Given the description of an element on the screen output the (x, y) to click on. 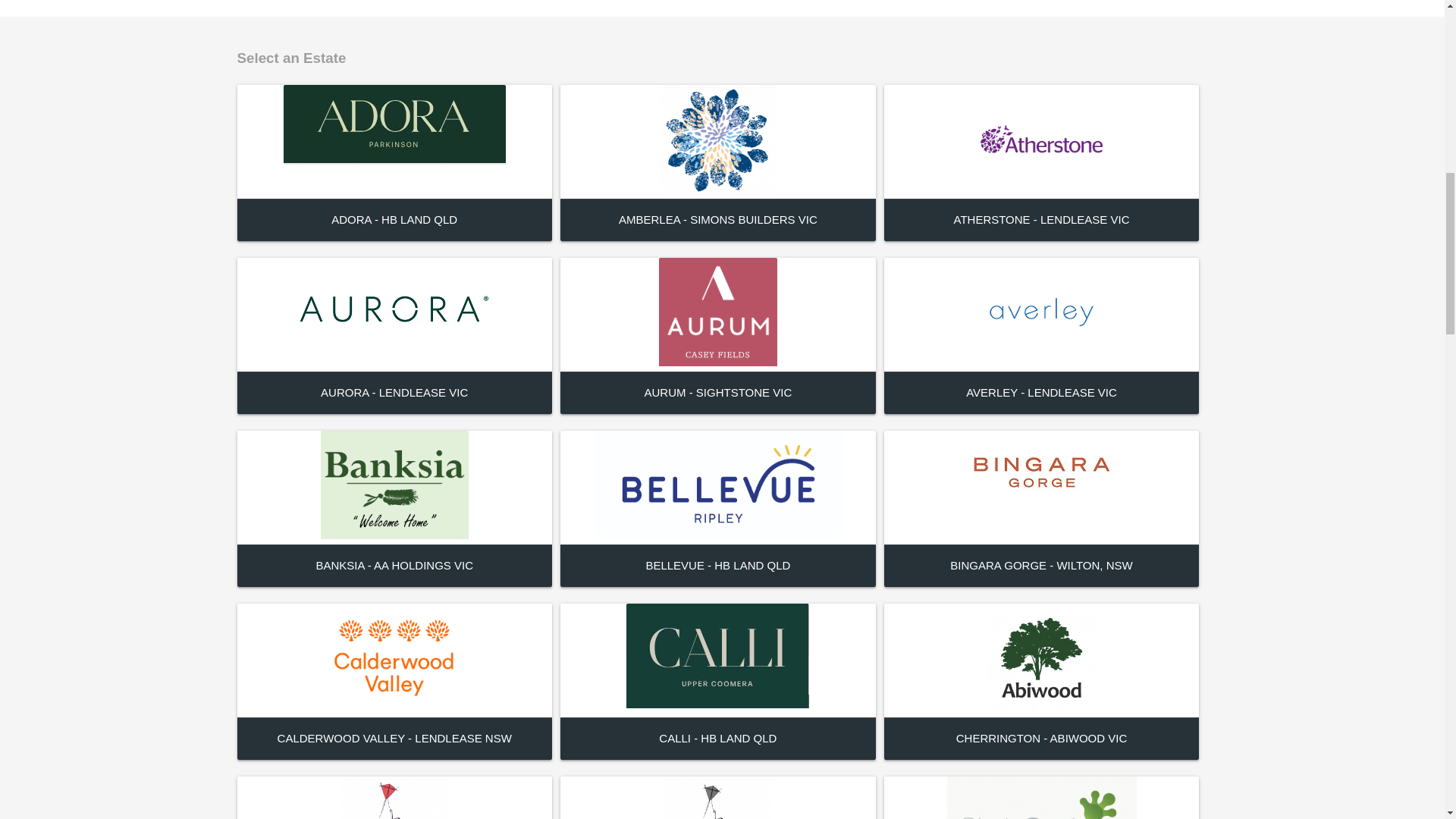
BANKSIA - AA HOLDINGS VIC (394, 564)
CHERRINGTON - ABIWOOD VIC (1041, 738)
AVERLEY - LENDLEASE VIC (1041, 391)
CALDERWOOD VALLEY - LENDLEASE NSW (395, 738)
ATHERSTONE - LENDLEASE VIC (1041, 219)
BELLEVUE - HB LAND QLD (717, 564)
AURUM - SIGHTSTONE VIC (717, 391)
AMBERLEA - SIMONS BUILDERS VIC (717, 219)
CALLI - HB LAND QLD (717, 738)
BINGARA GORGE - WILTON, NSW (1041, 564)
AURORA - LENDLEASE VIC (393, 391)
ADORA - HB LAND QLD (394, 219)
